Given the description of an element on the screen output the (x, y) to click on. 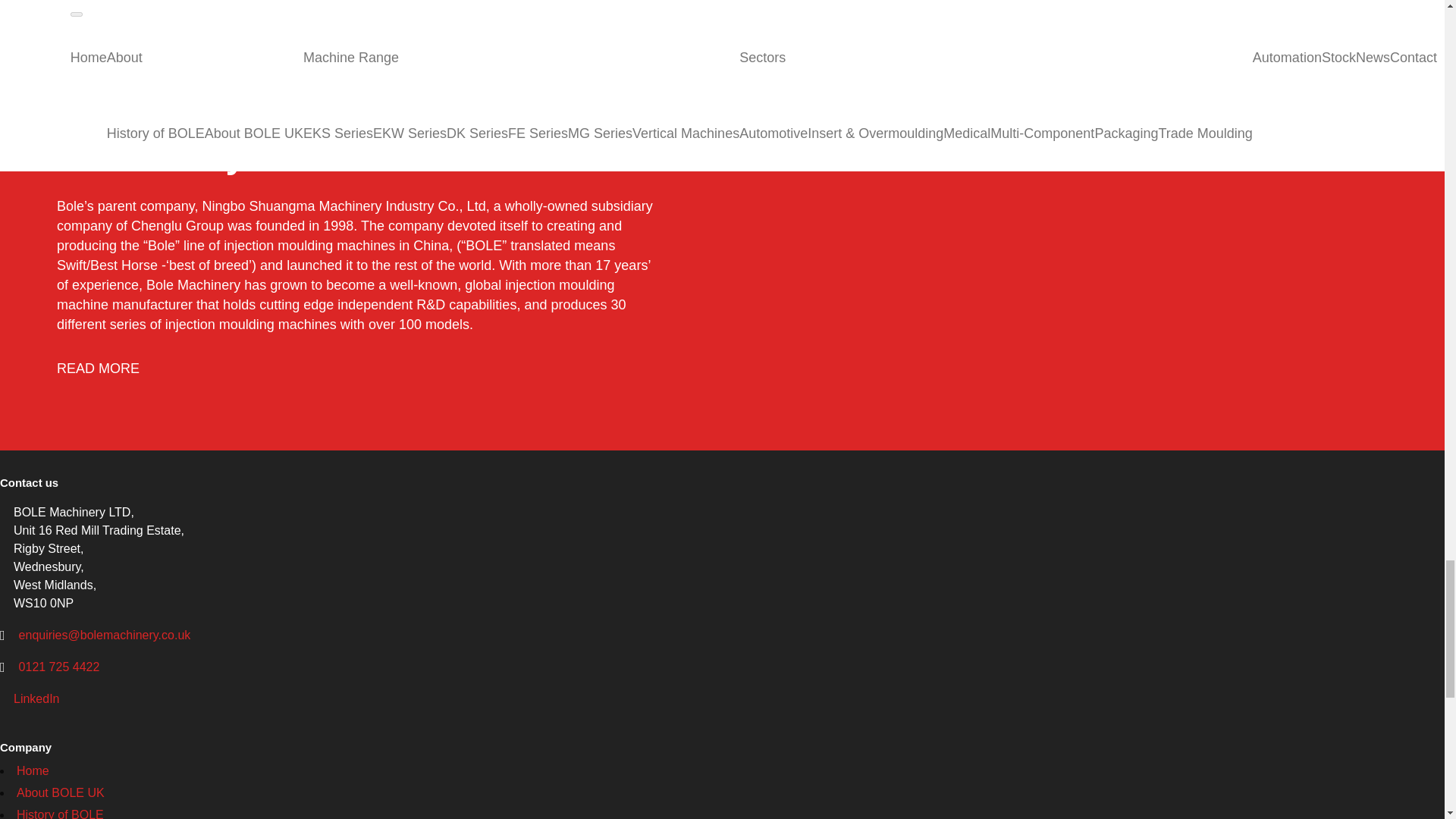
LinkedIn (36, 698)
History of BOLE (59, 813)
About BOLE UK (60, 792)
Homepage (32, 770)
